Given the description of an element on the screen output the (x, y) to click on. 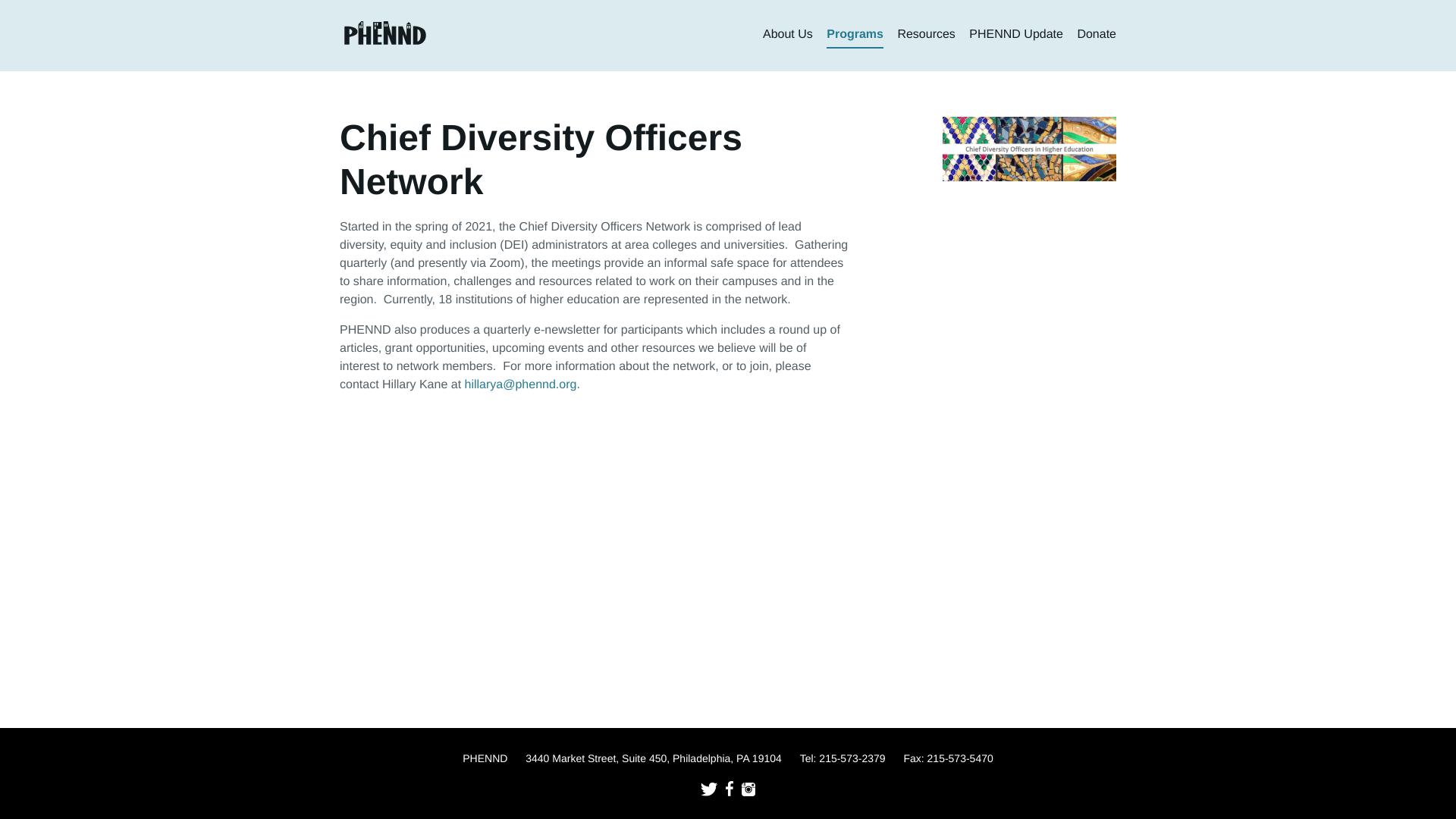
PHENND Update (1015, 34)
About Us (787, 34)
Resources (925, 34)
Programs (855, 35)
